Given the description of an element on the screen output the (x, y) to click on. 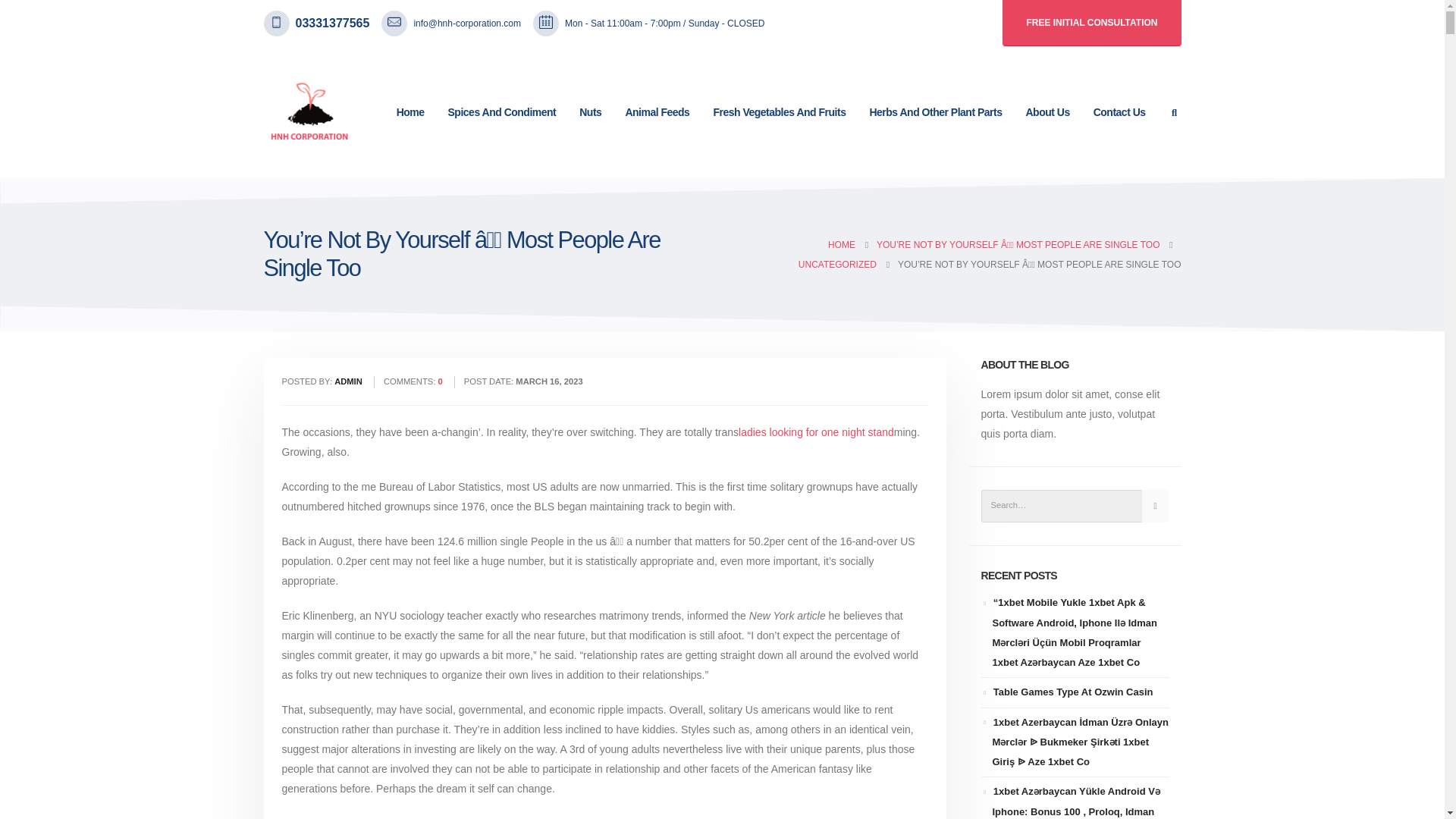
Animal Feeds (656, 111)
Fresh Vegetables And Fruits (779, 111)
HNH Corporation - Nature Provides, We Deliver (309, 112)
Herbs And Other Plant Parts (935, 111)
FREE INITIAL CONSULTATION (1091, 22)
Spices And Condiment (501, 111)
Go to Home Page (842, 244)
Contact Us (1119, 111)
03331377565 (332, 23)
